Given the description of an element on the screen output the (x, y) to click on. 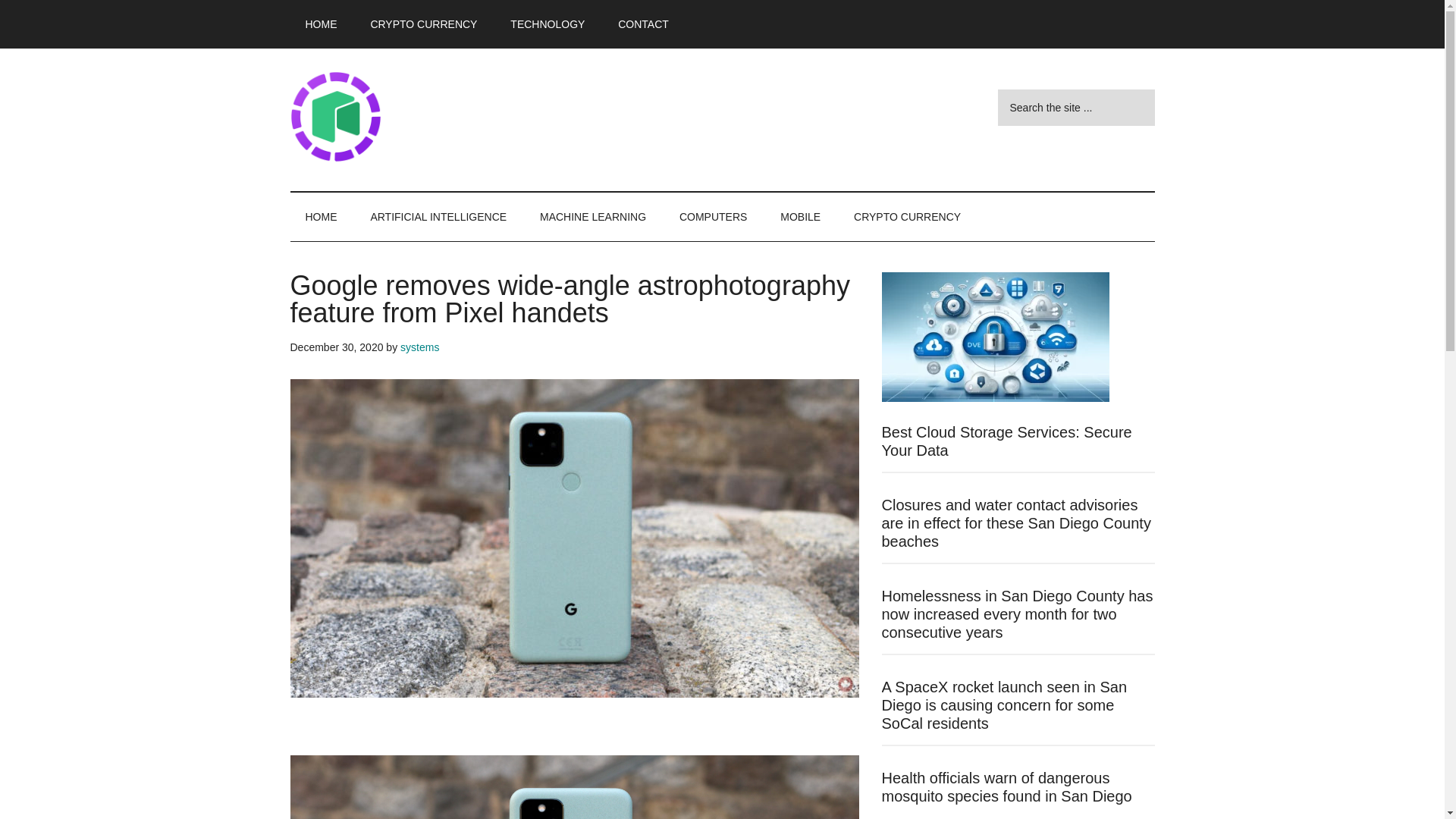
systems (419, 346)
TECHNOLOGY (547, 24)
MOBILE (800, 216)
ARTIFICIAL INTELLIGENCE (438, 216)
HOME (320, 216)
MACHINE LEARNING (592, 216)
COMPUTERS (712, 216)
